Given the description of an element on the screen output the (x, y) to click on. 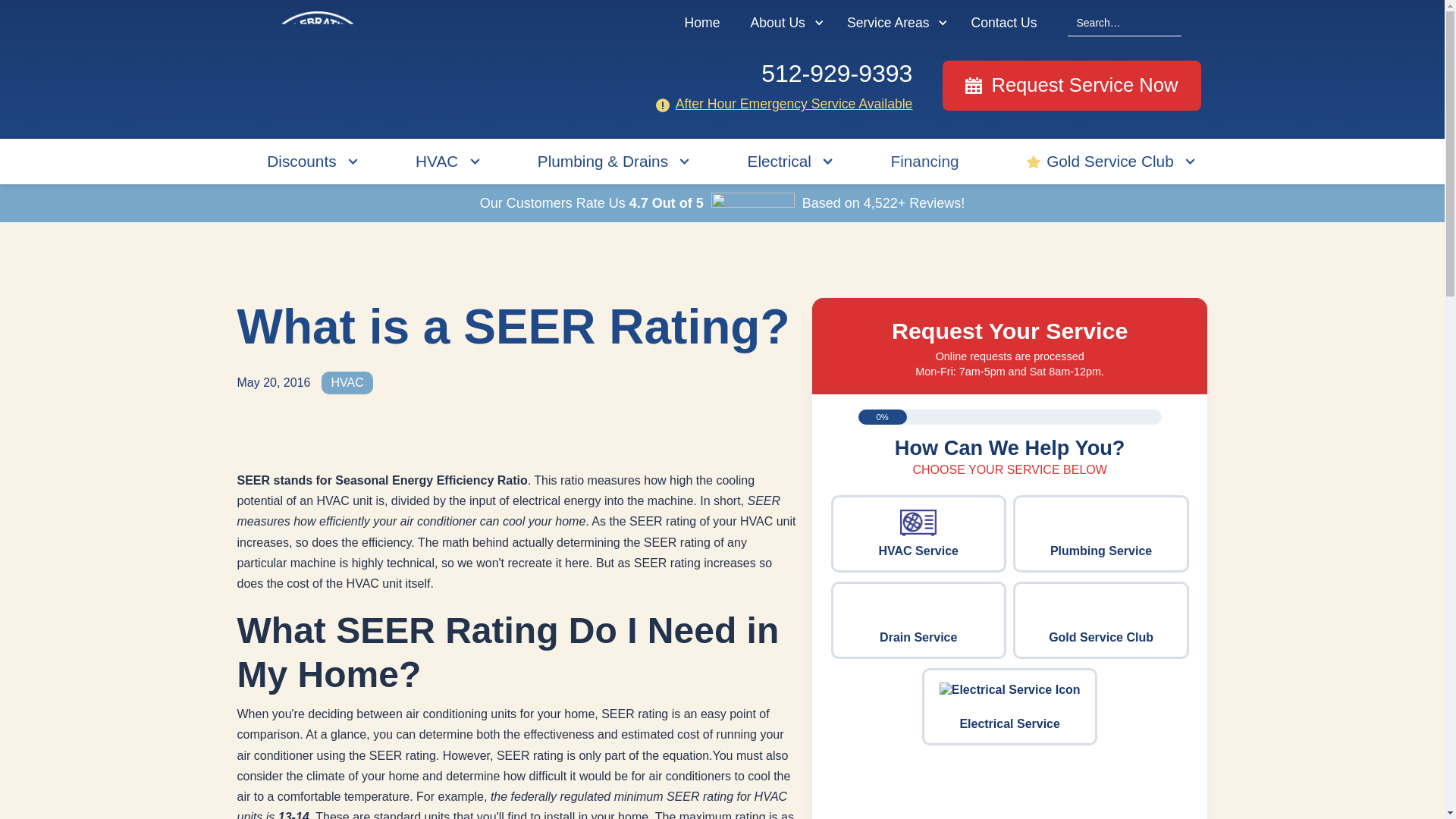
Request Service Now (1070, 85)
After Hour Emergency Service Available (793, 103)
Discounts (301, 160)
512-929-9393 (780, 73)
Home (702, 22)
Contact Us (1003, 22)
HVAC (436, 160)
